Given the description of an element on the screen output the (x, y) to click on. 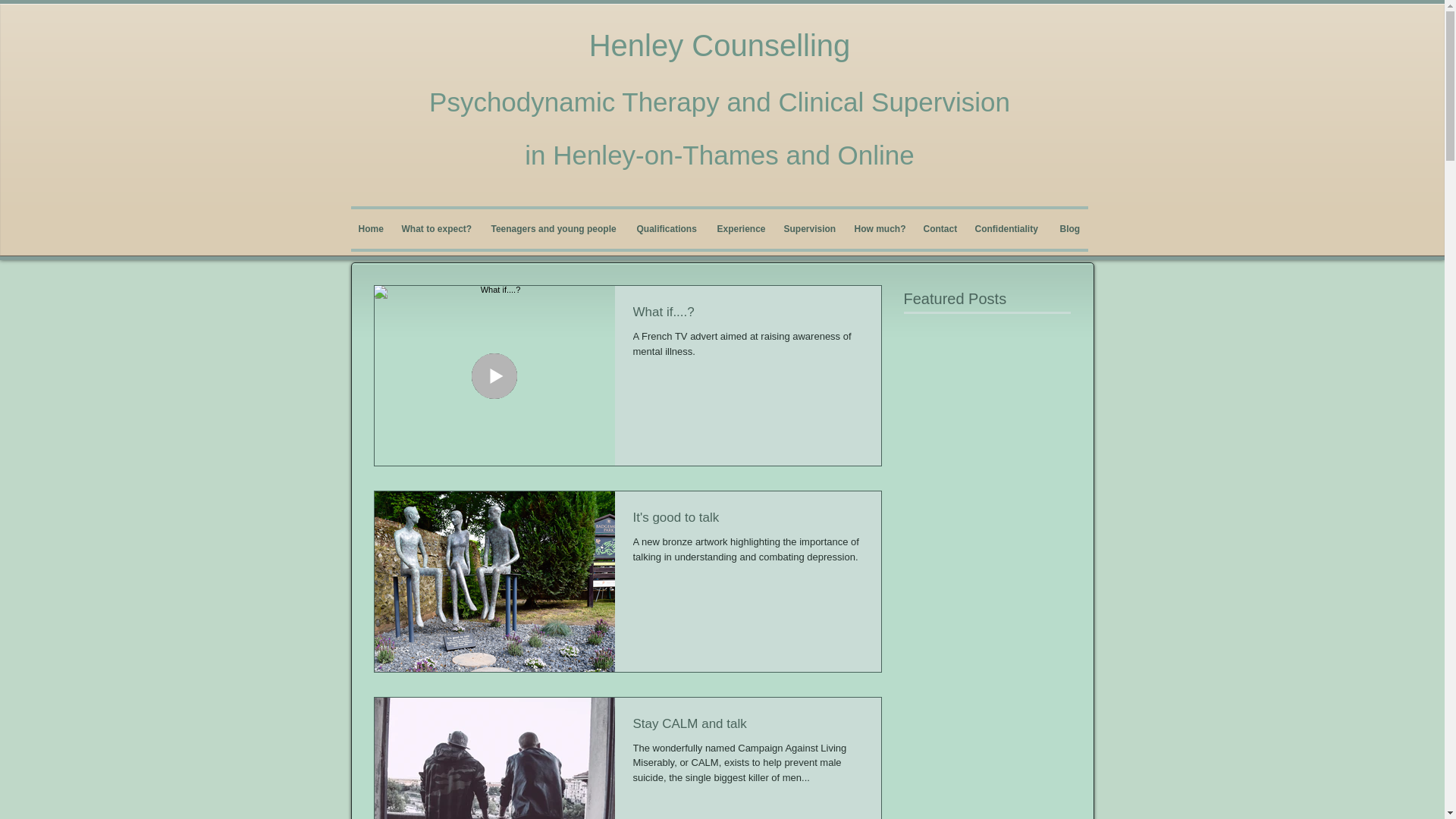
Supervision (811, 228)
Qualifications (669, 228)
Contact (941, 228)
Confidentiality (1010, 228)
Home (371, 228)
Teenagers and young people (555, 228)
It's good to talk (746, 521)
How much? (880, 228)
Stay CALM and talk (746, 728)
What if....? (746, 316)
